Given the description of an element on the screen output the (x, y) to click on. 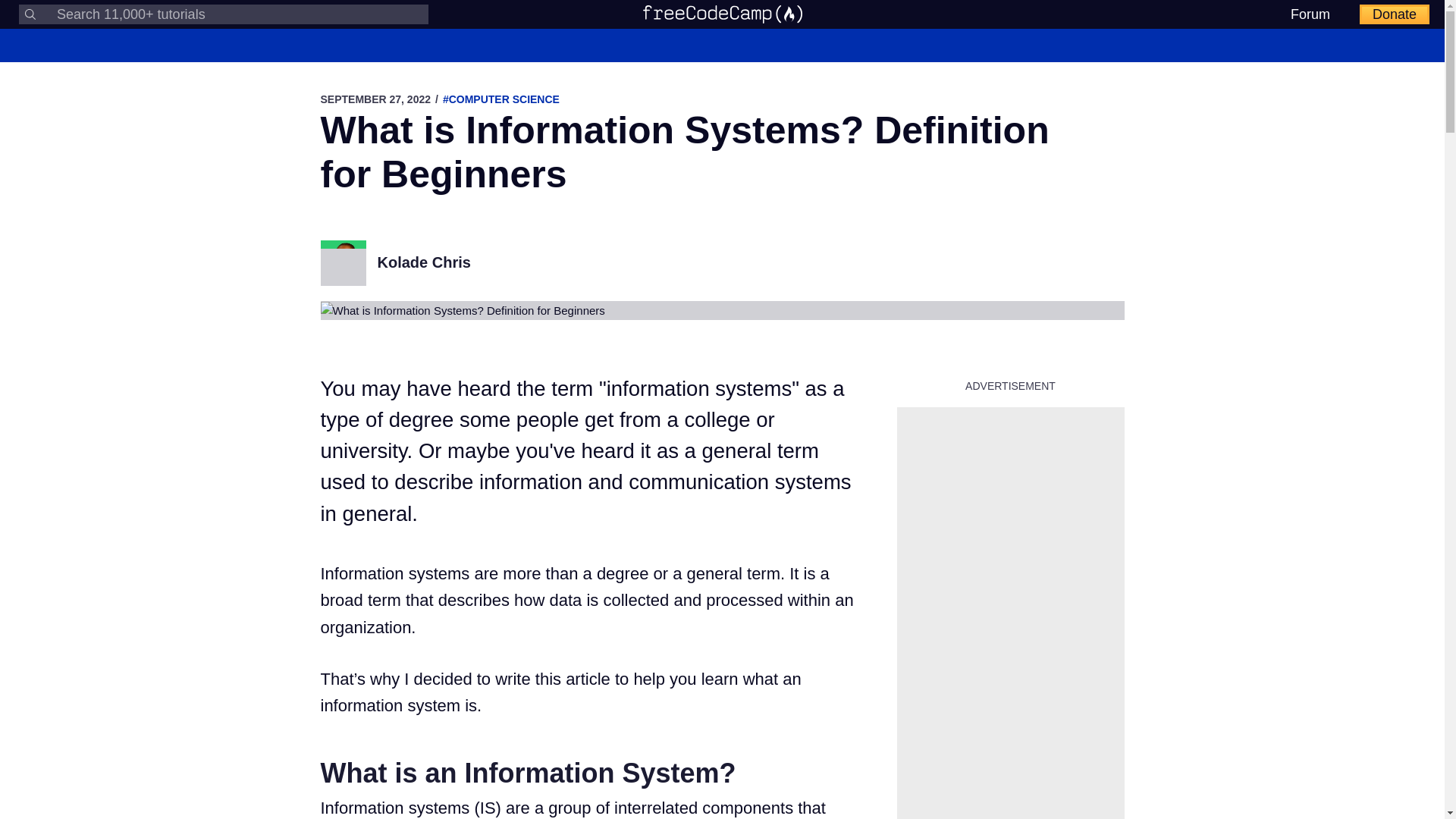
Donate (1394, 14)
Forum (1309, 14)
Kolade Chris (423, 262)
Submit your search query (30, 14)
